Given the description of an element on the screen output the (x, y) to click on. 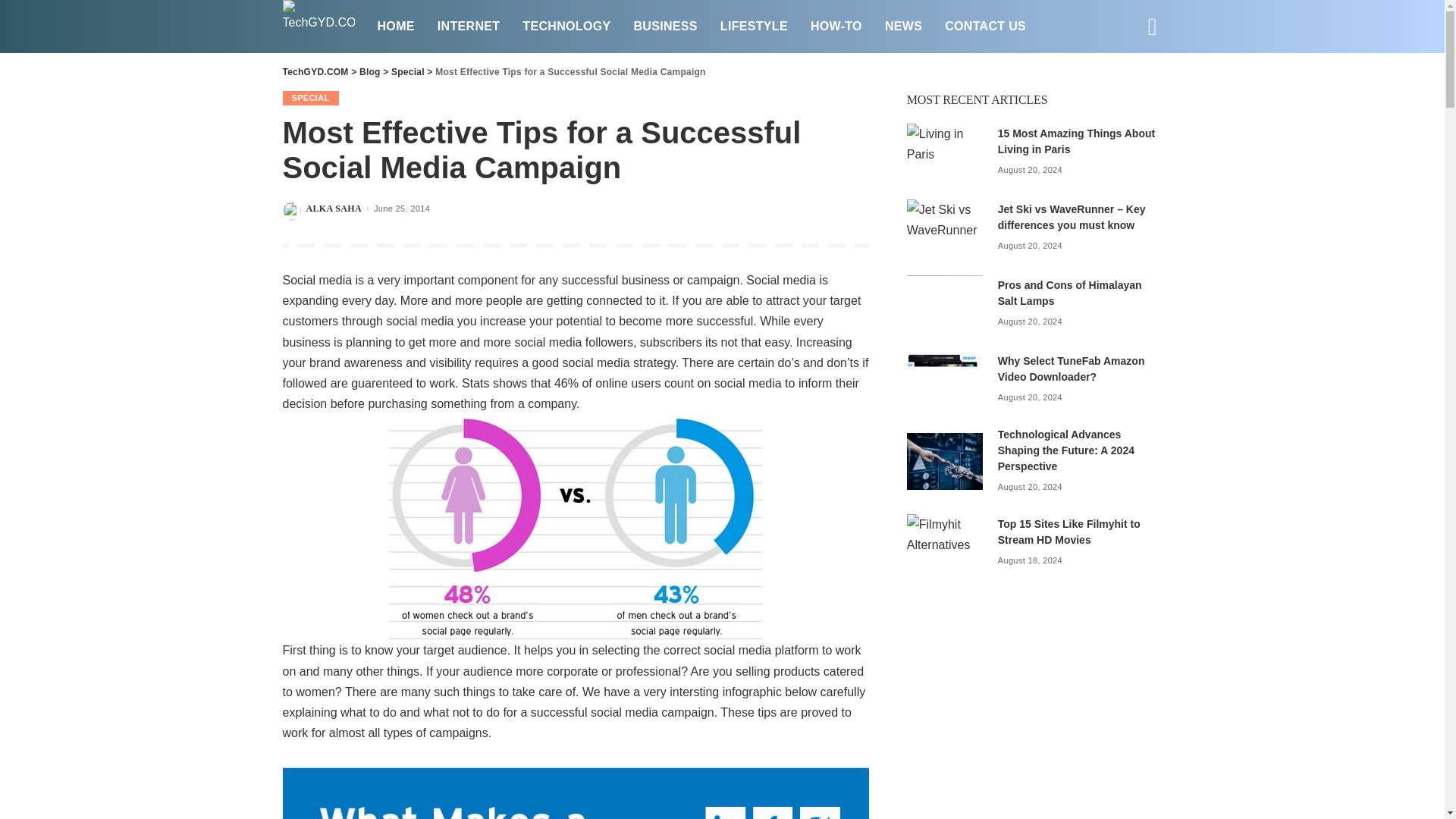
INTERNET (469, 26)
HOME (395, 26)
TECHNOLOGY (566, 26)
Go to TechGYD.COM. (314, 71)
Go to Blog. (369, 71)
Go to the Special Category archives. (408, 71)
TechGYD.COM (317, 26)
